Given the description of an element on the screen output the (x, y) to click on. 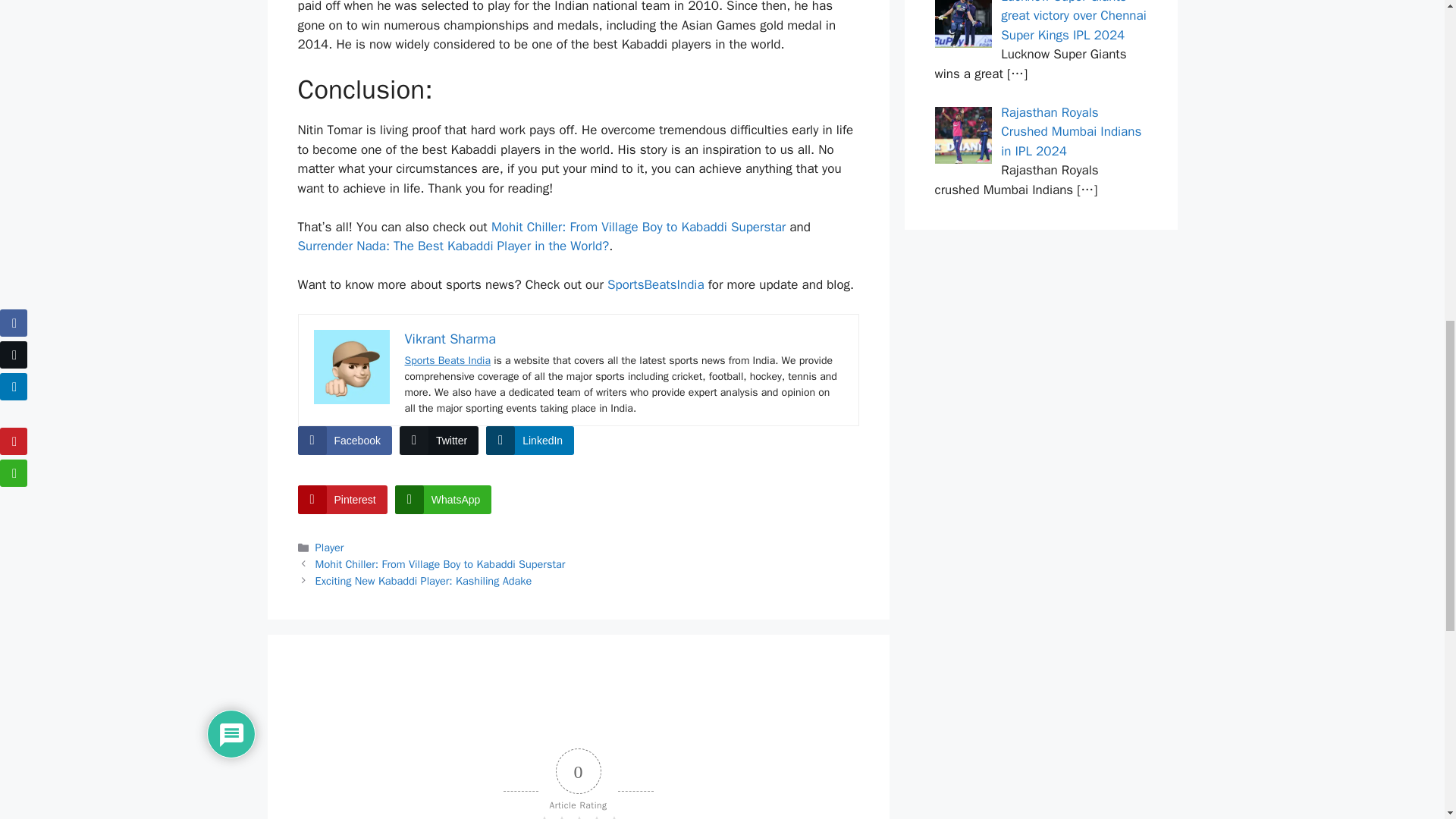
Vikrant Sharma (450, 338)
Exciting New Kabaddi Player: Kashiling Adake (423, 581)
Surrender Nada: The Best Kabaddi Player in the World? (452, 245)
Pinterest (342, 499)
Player (329, 547)
Mohit Chiller: From Village Boy to Kabaddi Superstar (639, 227)
WhatsApp (443, 499)
LinkedIn (529, 440)
Facebook (344, 440)
Mohit Chiller: From Village Boy to Kabaddi Superstar (440, 563)
SportsBeatsIndia (655, 284)
Sports Beats India (448, 359)
Twitter (438, 440)
